Given the description of an element on the screen output the (x, y) to click on. 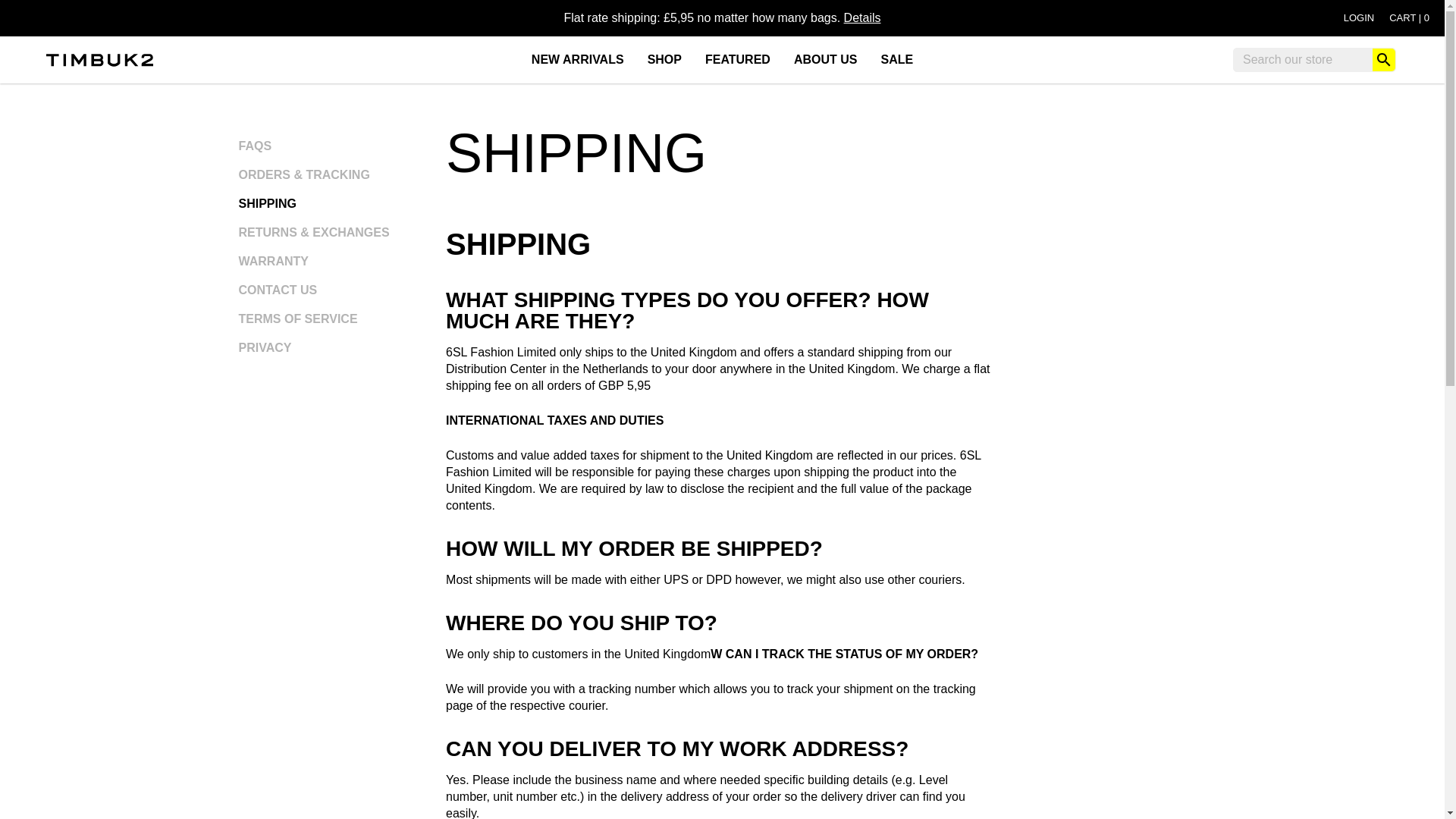
WARRANTY (272, 260)
FAQS (1409, 17)
Login (254, 145)
TERMS OF SERVICE (1358, 17)
Cart (297, 318)
SHOP (1409, 17)
Details (664, 59)
ABOUT US (862, 17)
NEW ARRIVALS (826, 59)
SHIPPING (576, 59)
SALE (266, 203)
Shipping (896, 59)
FEATURED (862, 17)
PRIVACY (737, 59)
